Given the description of an element on the screen output the (x, y) to click on. 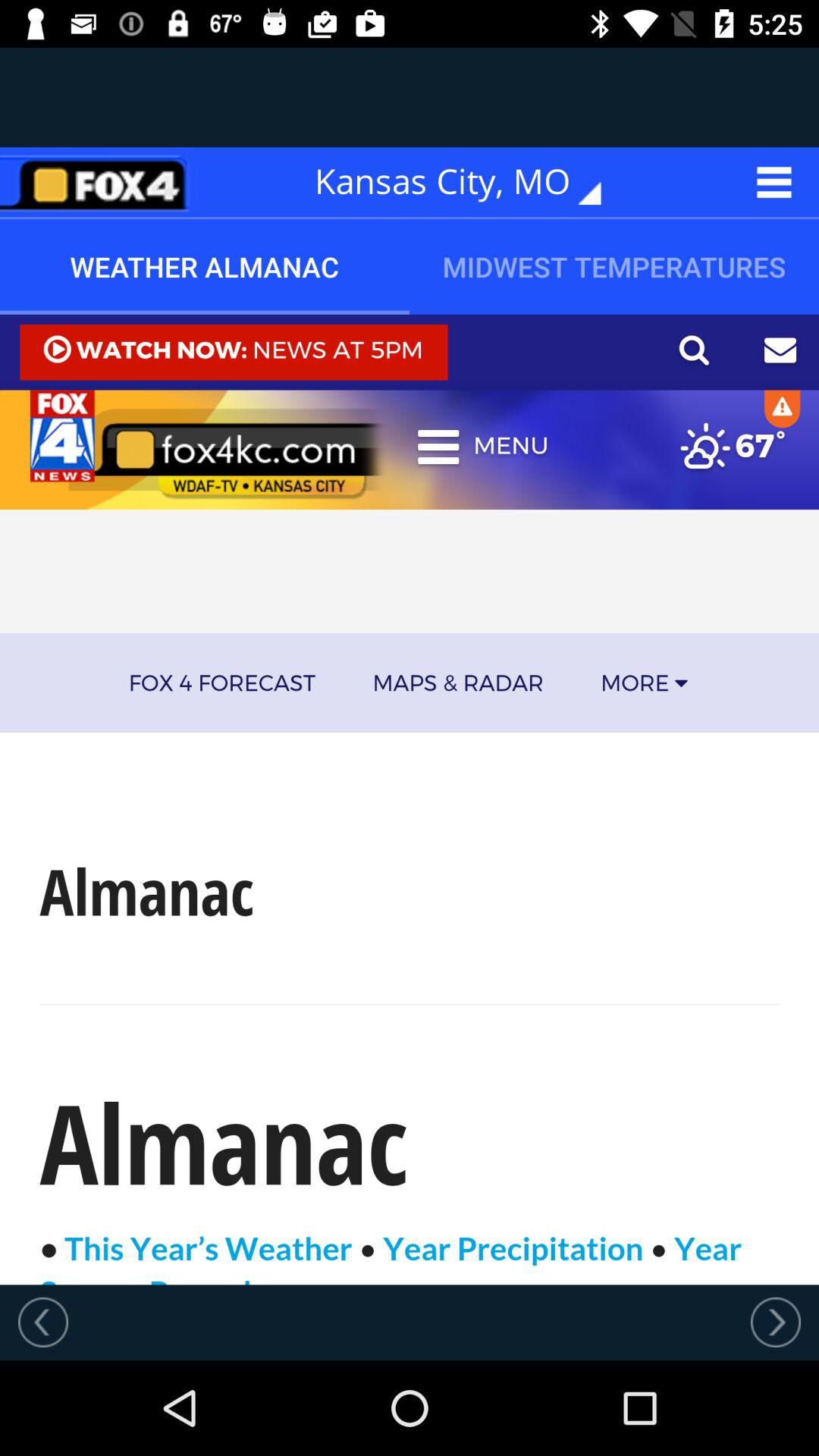
fox4kc.com screen (409, 799)
